Given the description of an element on the screen output the (x, y) to click on. 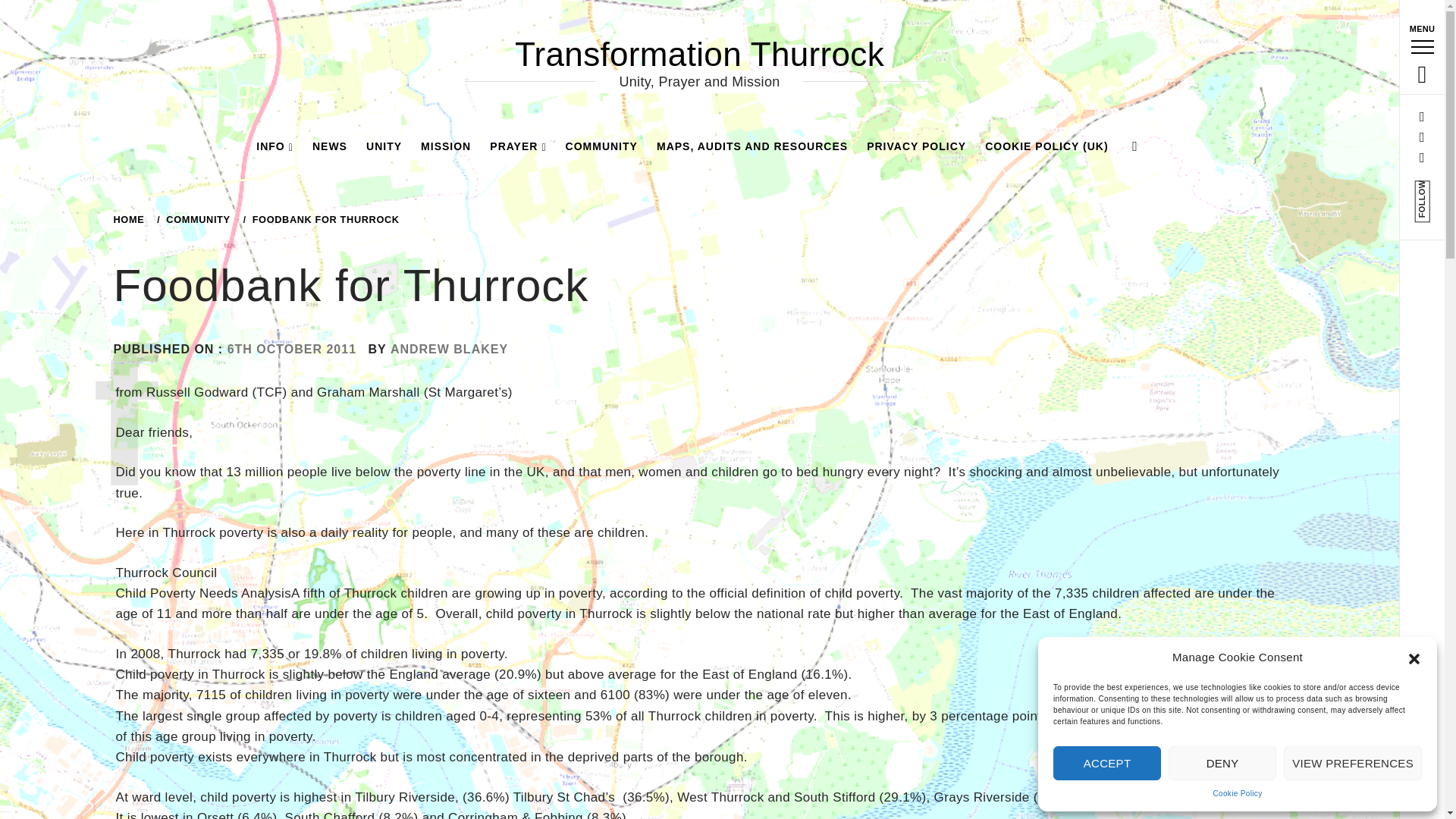
FOODBANK FOR THURROCK (323, 219)
Search (646, 37)
PRAYER (517, 145)
MAPS, AUDITS AND RESOURCES (752, 145)
VIEW PREFERENCES (1353, 763)
UNITY (383, 145)
Cookie Policy (1237, 793)
NEWS (329, 145)
COMMUNITY (601, 145)
DENY (1222, 763)
HOME (131, 219)
COMMUNITY (195, 219)
PRIVACY POLICY (916, 145)
Transformation Thurrock (699, 54)
ACCEPT (1106, 763)
